Given the description of an element on the screen output the (x, y) to click on. 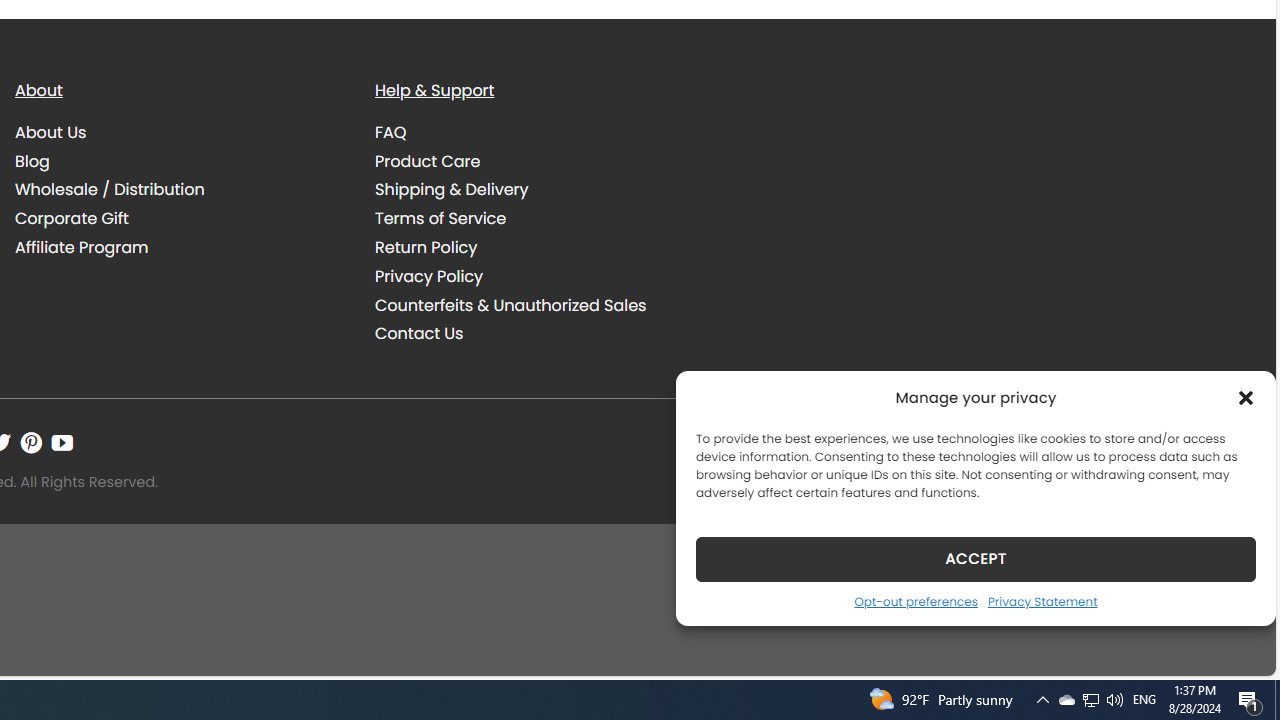
Product Care (540, 161)
Terms of Service (540, 218)
ACCEPT (975, 558)
Blog (32, 160)
Shipping & Delivery (540, 190)
About Us (180, 132)
Product Care (428, 160)
Wholesale / Distribution (109, 189)
Blog (180, 161)
Follow on Pinterest (31, 442)
Counterfeits & Unauthorized Sales (540, 305)
Class: cmplz-close (1245, 397)
Counterfeits & Unauthorized Sales (510, 304)
Terms of Service (440, 219)
